Given the description of an element on the screen output the (x, y) to click on. 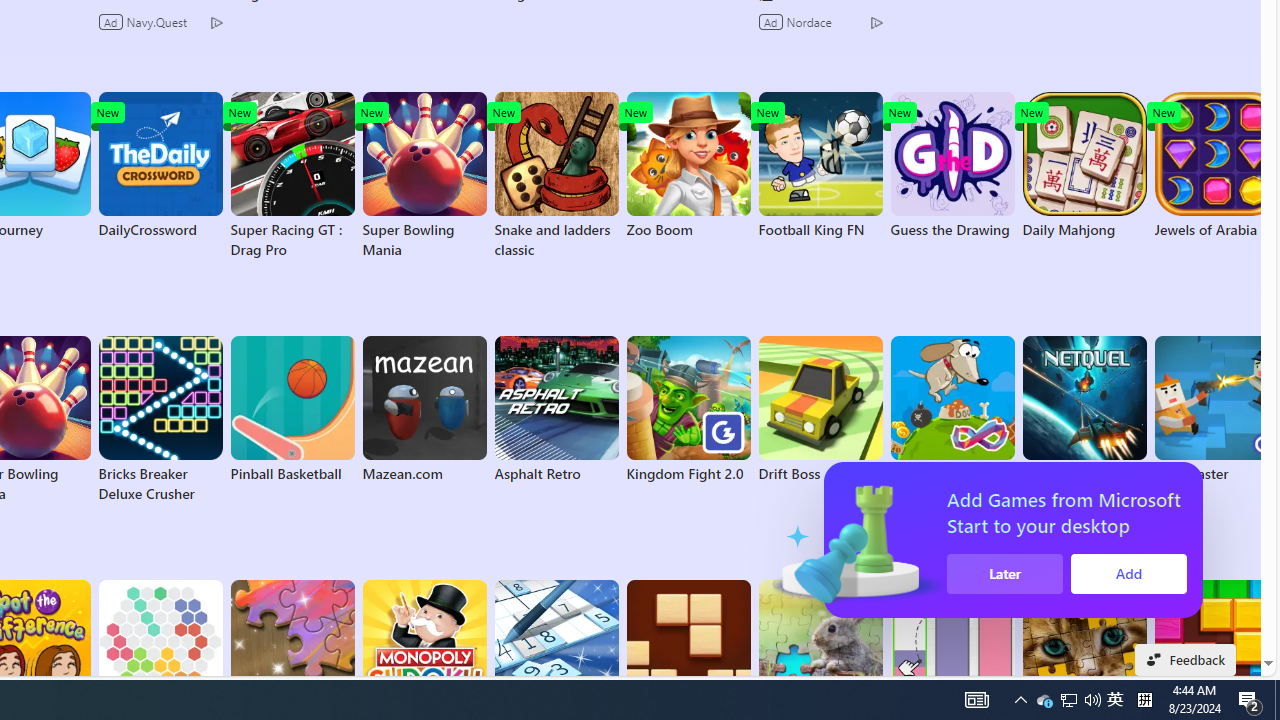
Kingdom Fight 2.0 (688, 409)
Snake and ladders classic (556, 175)
Pinball Basketball (292, 409)
Zoo Boom (688, 165)
Daily Mahjong (1083, 165)
Class: pwa-upsell-icon (1093, 539)
Hungry Dog FRVR (952, 409)
Class: ad-choice  ad-choice-mono  (876, 21)
